Given the description of an element on the screen output the (x, y) to click on. 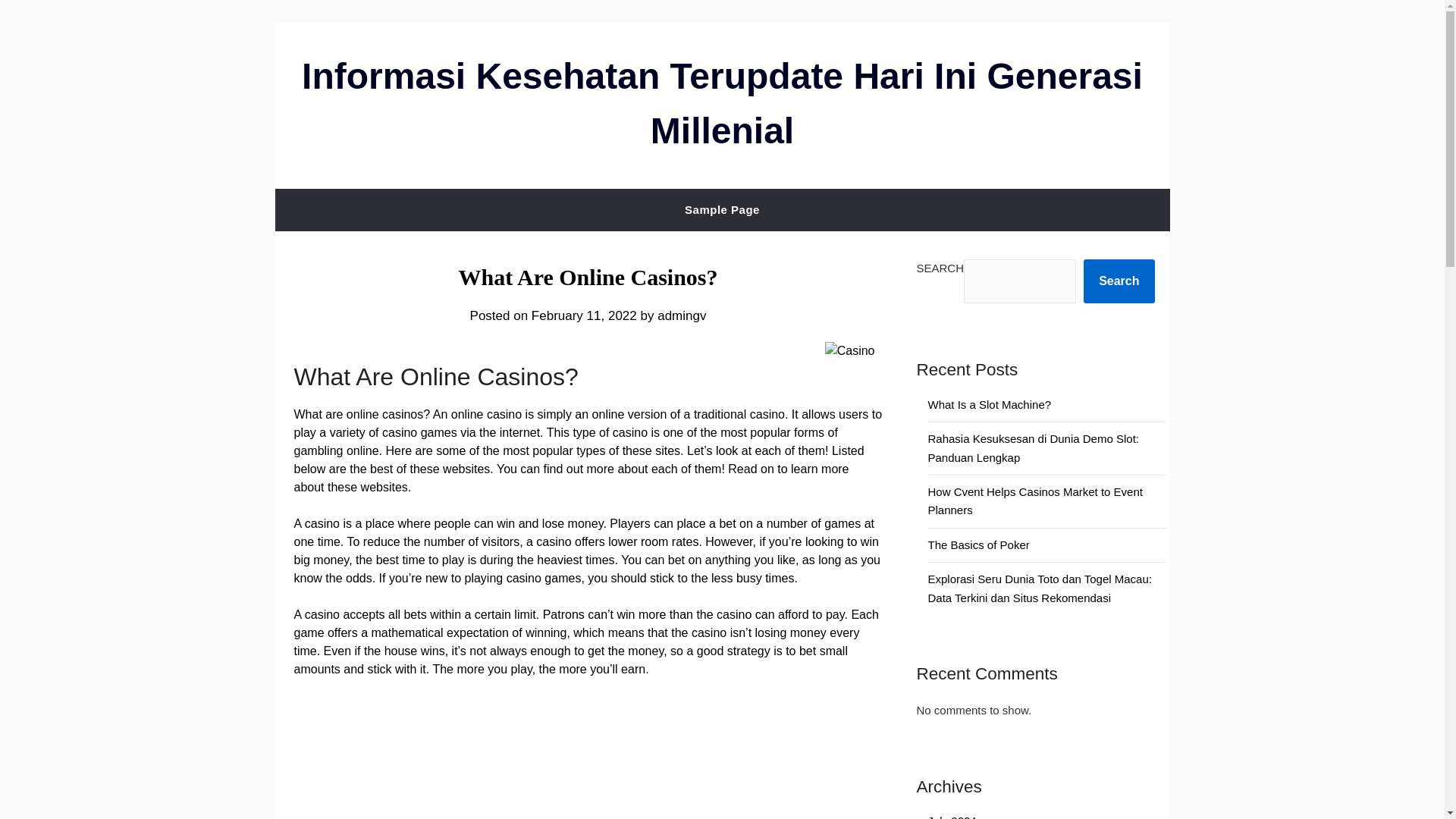
How Cvent Helps Casinos Market to Event Planners (1035, 500)
Sample Page (721, 209)
Rahasia Kesuksesan di Dunia Demo Slot: Panduan Lengkap (1033, 447)
July 2024 (952, 816)
admingv (682, 315)
Search (1118, 281)
What Is a Slot Machine? (989, 404)
The Basics of Poker (978, 544)
February 11, 2022 (584, 315)
Informasi Kesehatan Terupdate Hari Ini Generasi Millenial (721, 103)
